Given the description of an element on the screen output the (x, y) to click on. 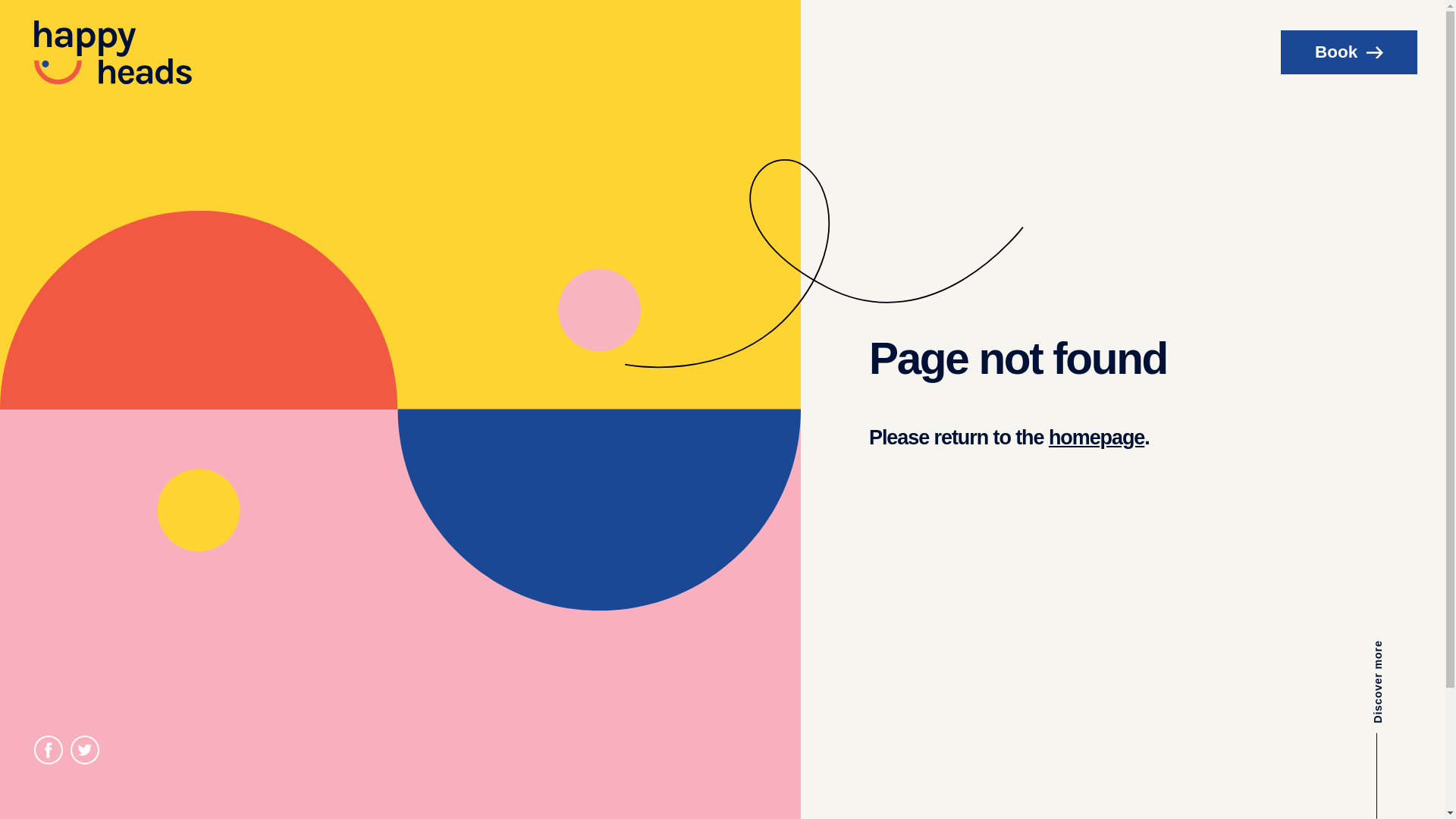
Book Element type: text (1348, 51)
Send Element type: text (790, 378)
homepage Element type: text (1096, 437)
